Given the description of an element on the screen output the (x, y) to click on. 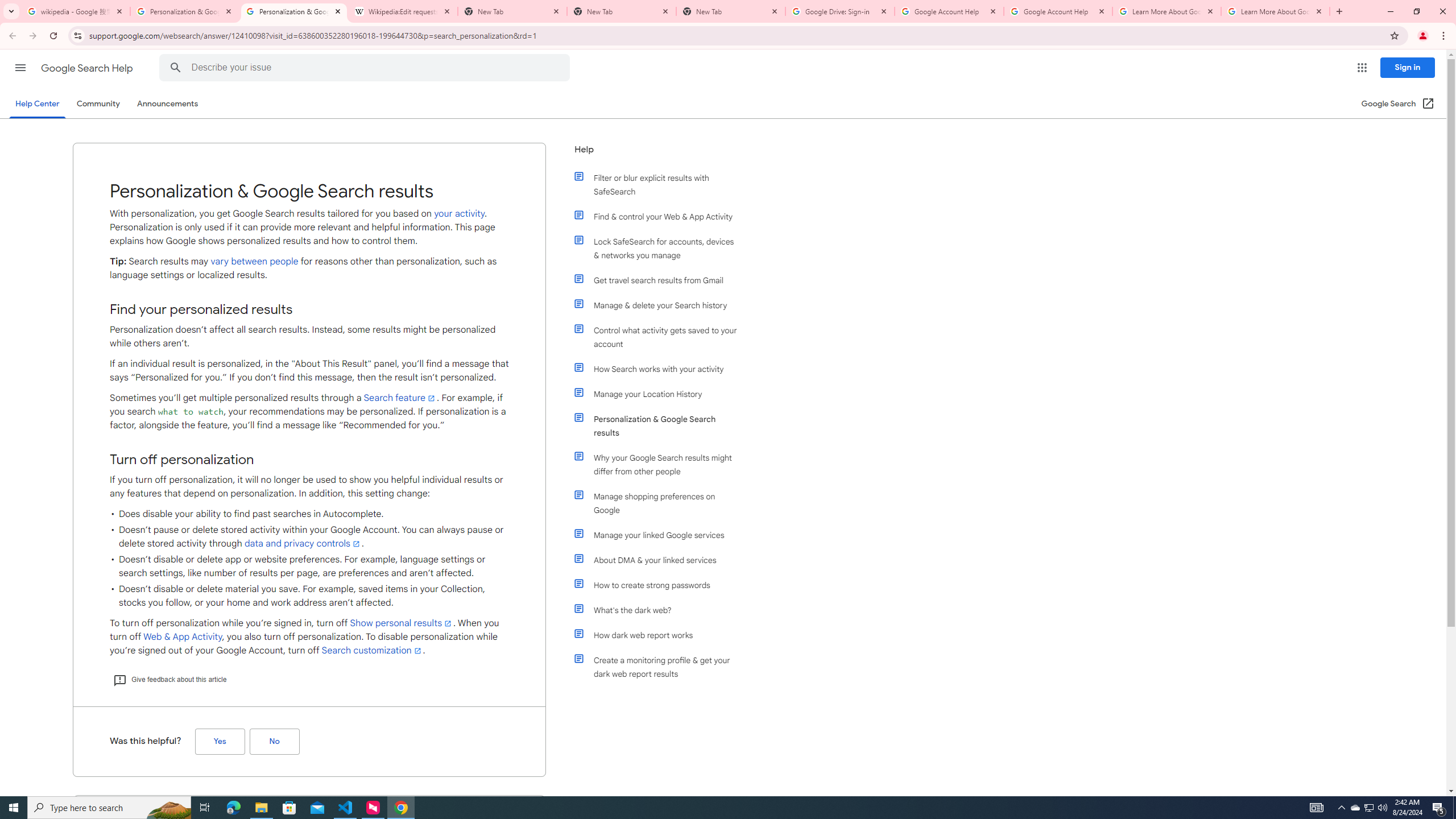
Web & App Activity (182, 636)
Manage shopping preferences on Google (661, 503)
vary between people (254, 260)
Get travel search results from Gmail (661, 280)
Personalization & Google Search results (661, 426)
Manage your linked Google services (661, 534)
New Tab (730, 11)
